Given the description of an element on the screen output the (x, y) to click on. 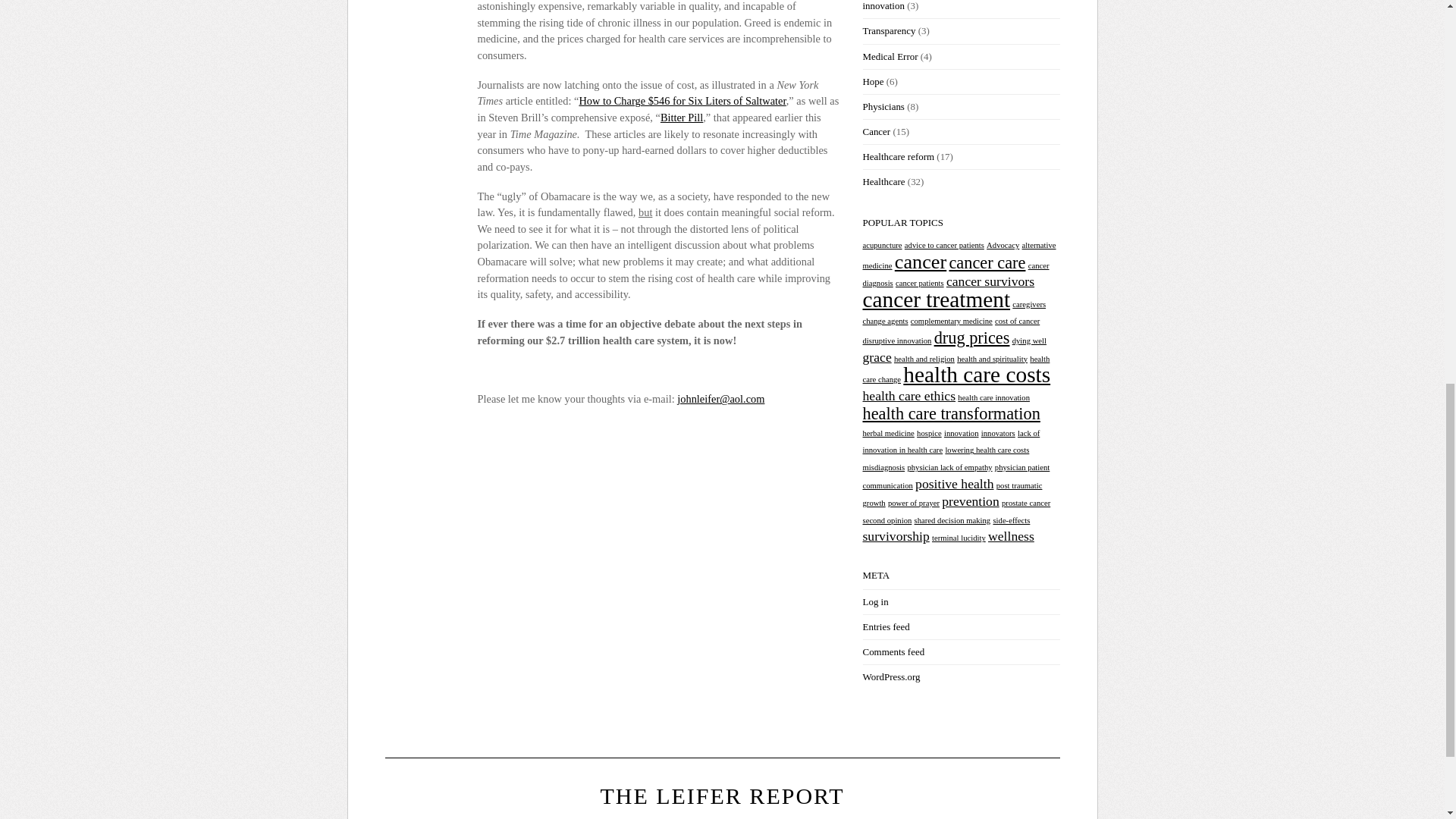
Physicians (883, 106)
Cancer (877, 131)
Transparency (889, 30)
acupuncture (882, 244)
The Leifer Report (721, 795)
Hope (873, 81)
Healthcare (884, 181)
Healthcare reform (898, 156)
Medical Error (890, 56)
innovation (883, 5)
Bitter Pill (682, 117)
